Given the description of an element on the screen output the (x, y) to click on. 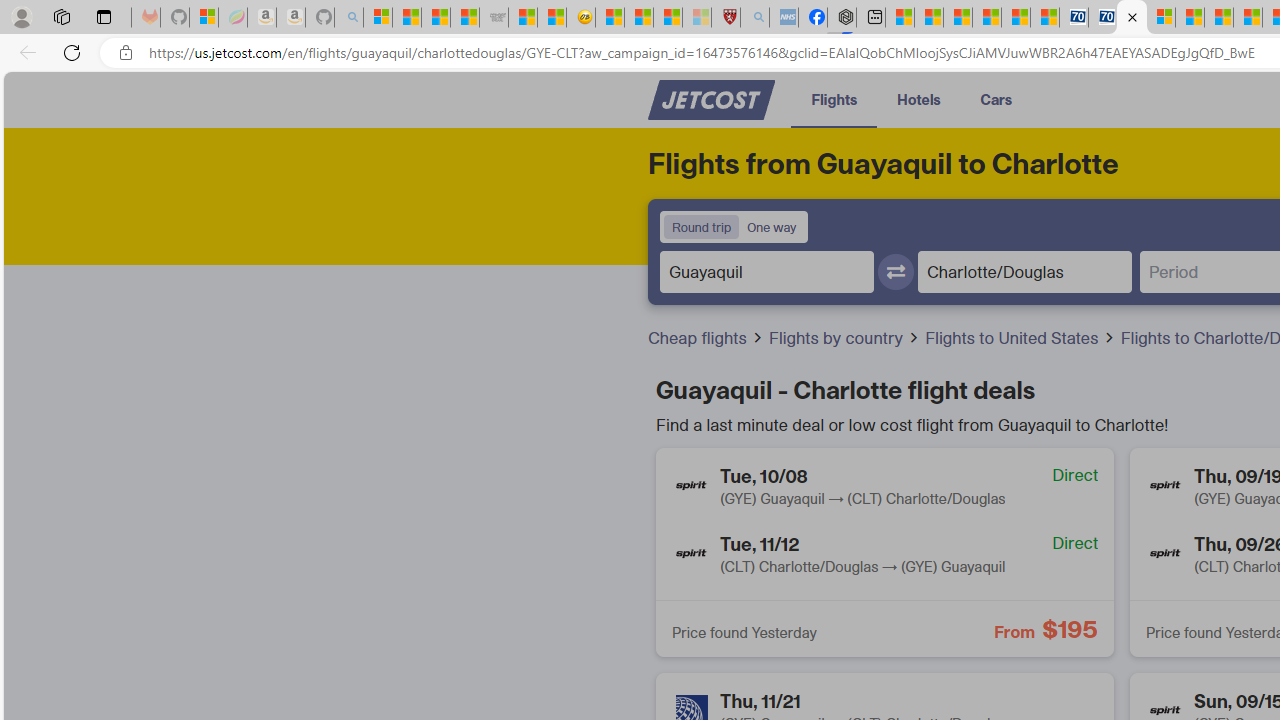
Hotels (918, 98)
Spirit Airlines (1165, 553)
Flights by country (837, 337)
